Given the description of an element on the screen output the (x, y) to click on. 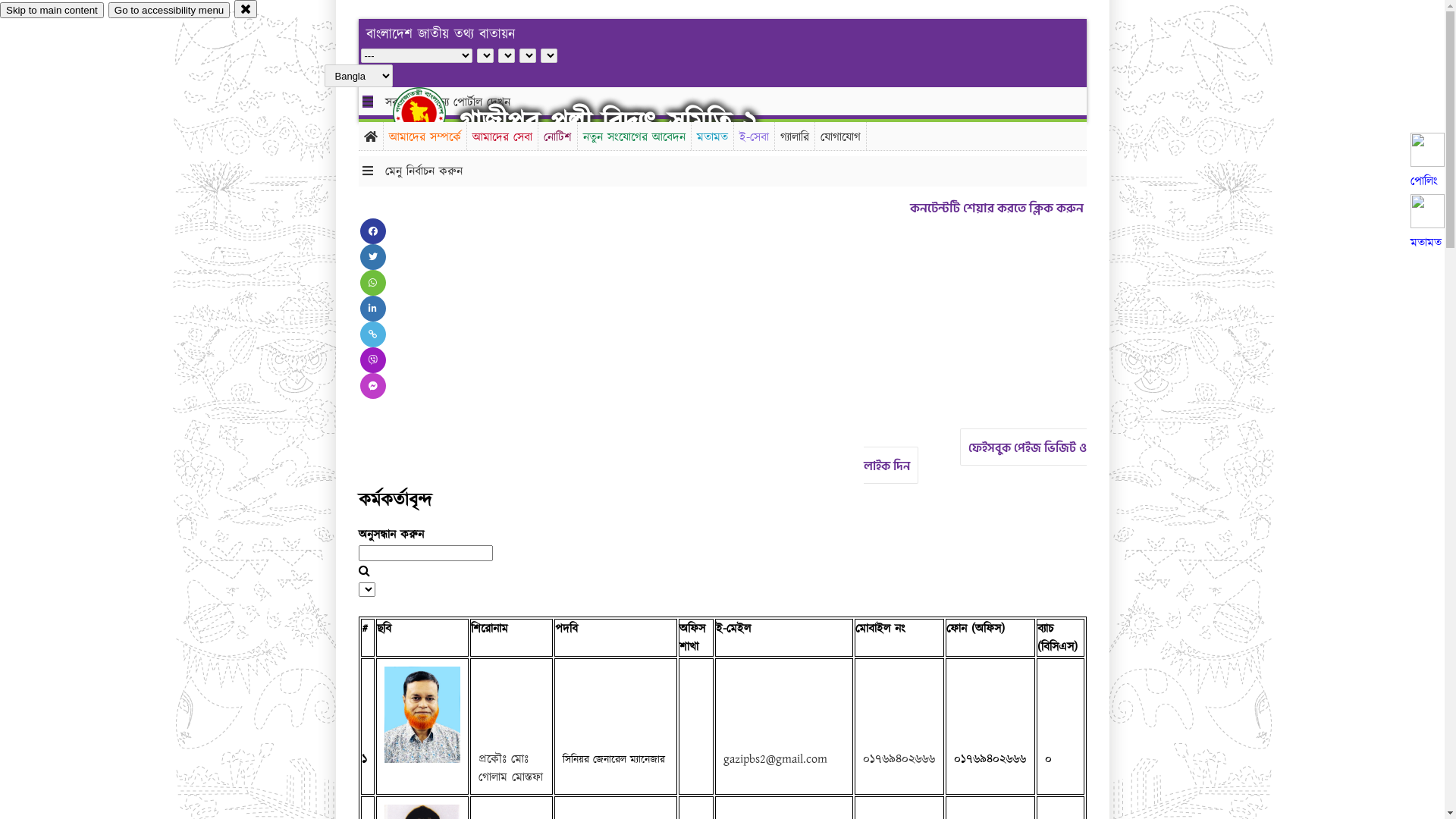
close Element type: hover (245, 9)
Go to accessibility menu Element type: text (168, 10)
gazipbs2@gmail.com Element type: text (775, 758)

                
             Element type: hover (431, 112)
Skip to main content Element type: text (51, 10)
